Given the description of an element on the screen output the (x, y) to click on. 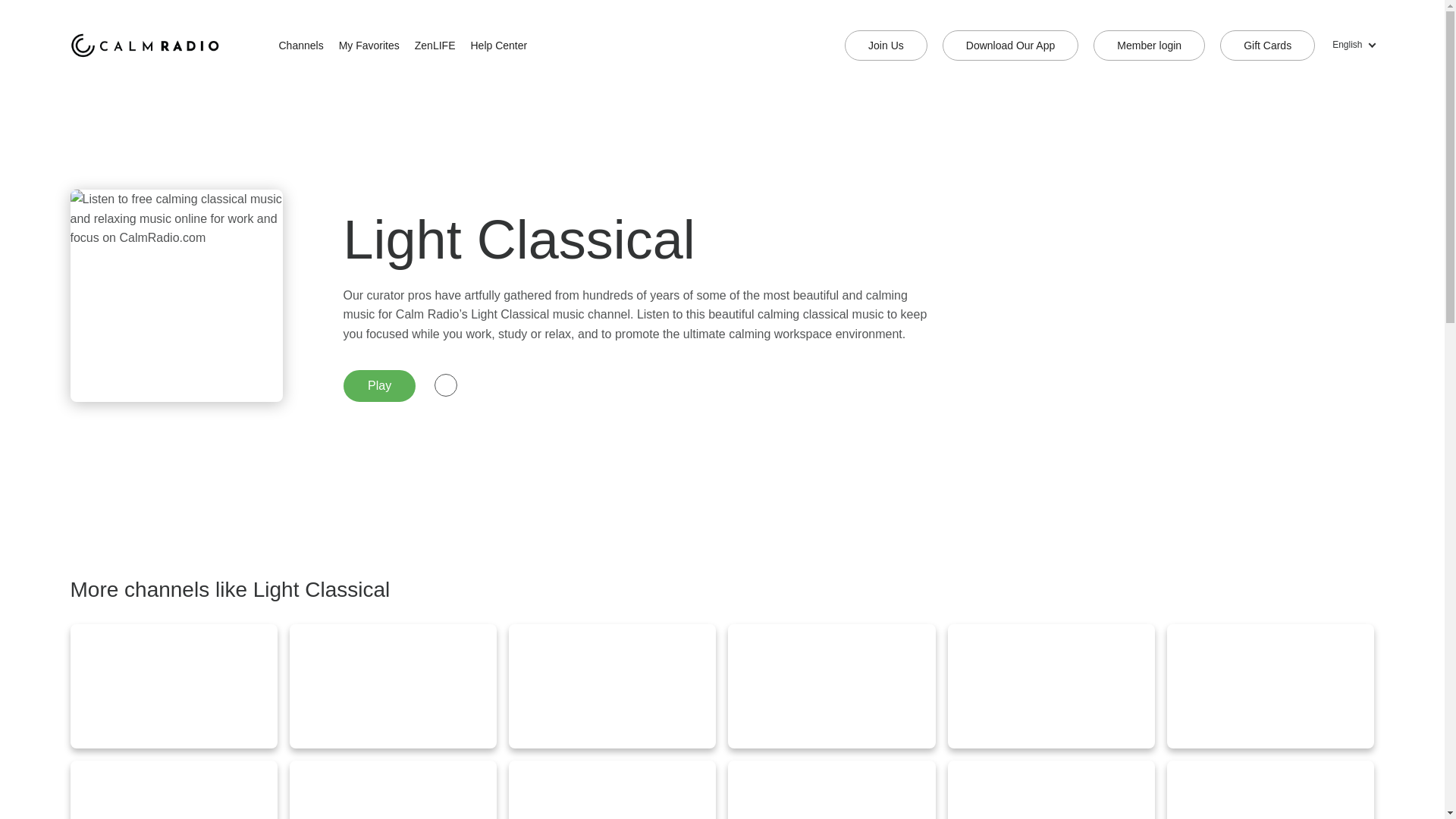
English (1352, 45)
Play (378, 386)
CONCERTOS (1270, 686)
ZenLIFE (435, 45)
SYMPHONY (172, 686)
Help Center (498, 45)
PEACEFUL BACH (1270, 789)
Download Our App (1010, 45)
CHAMBER MUSIC (1050, 686)
Gift Cards (1267, 45)
